Given the description of an element on the screen output the (x, y) to click on. 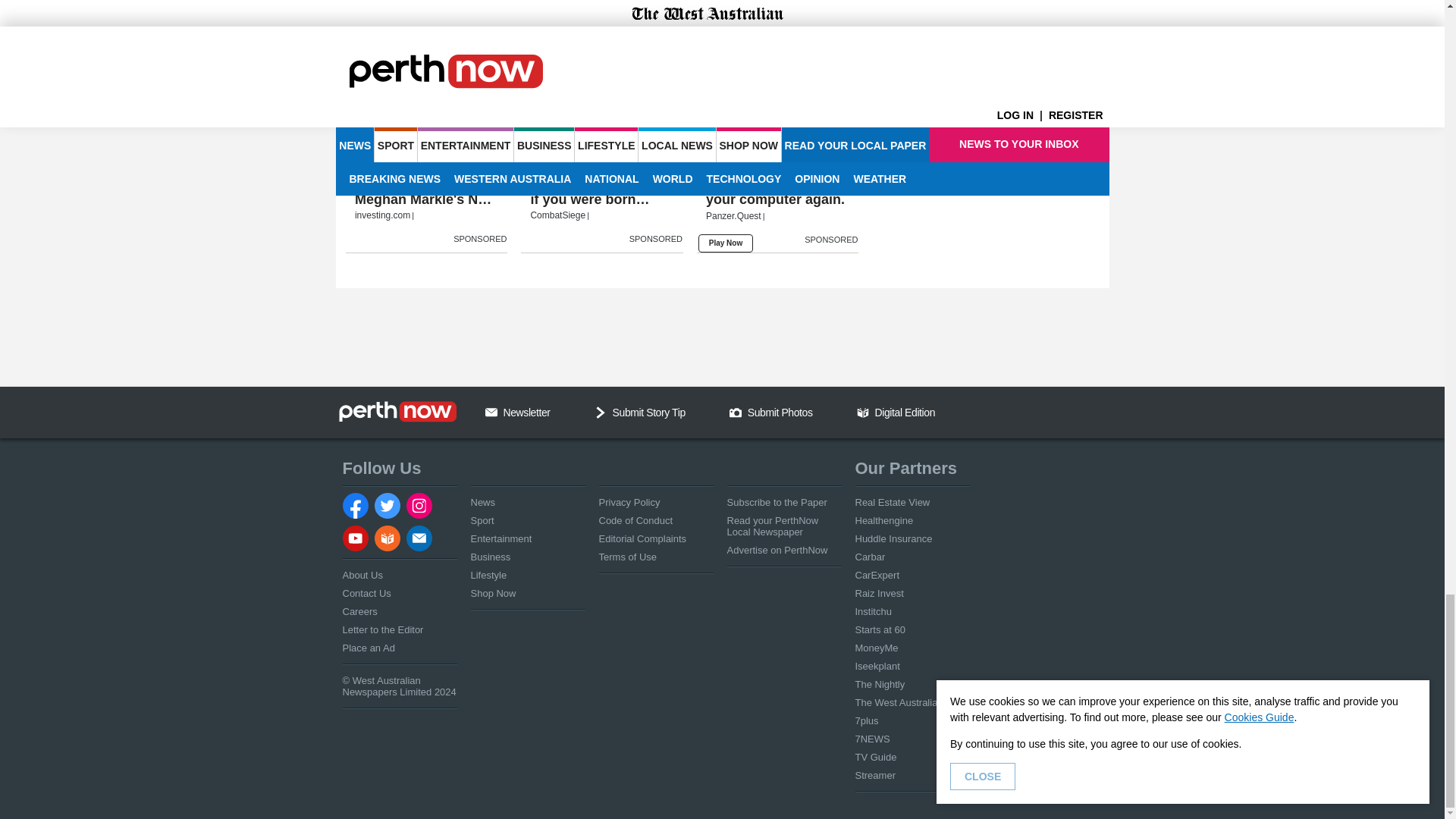
Email Us (490, 412)
Camera Icon (735, 412)
Chevron Down Icon (600, 412)
Get Digital Edition (863, 412)
